Given the description of an element on the screen output the (x, y) to click on. 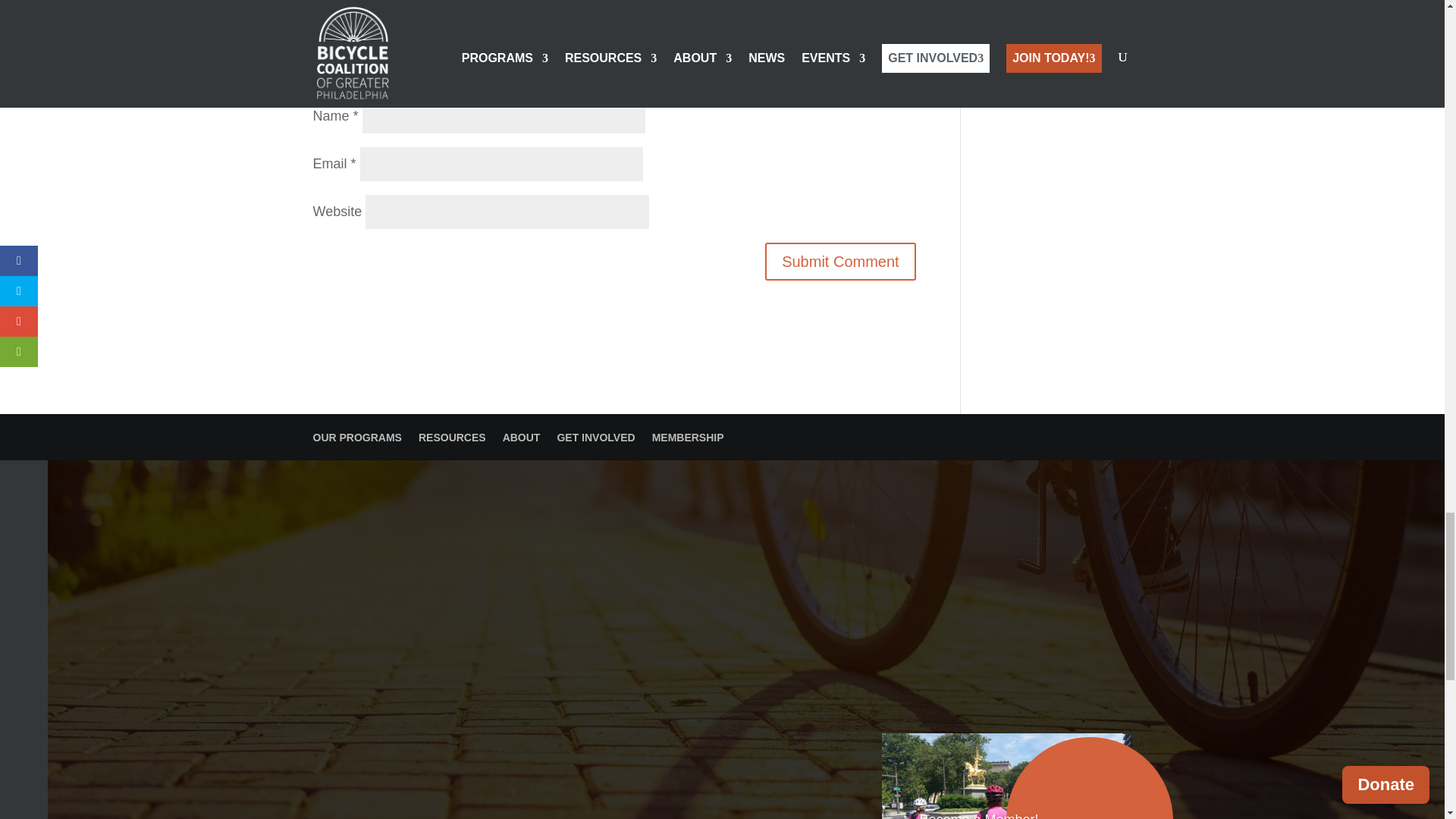
Submit Comment (840, 261)
